Given the description of an element on the screen output the (x, y) to click on. 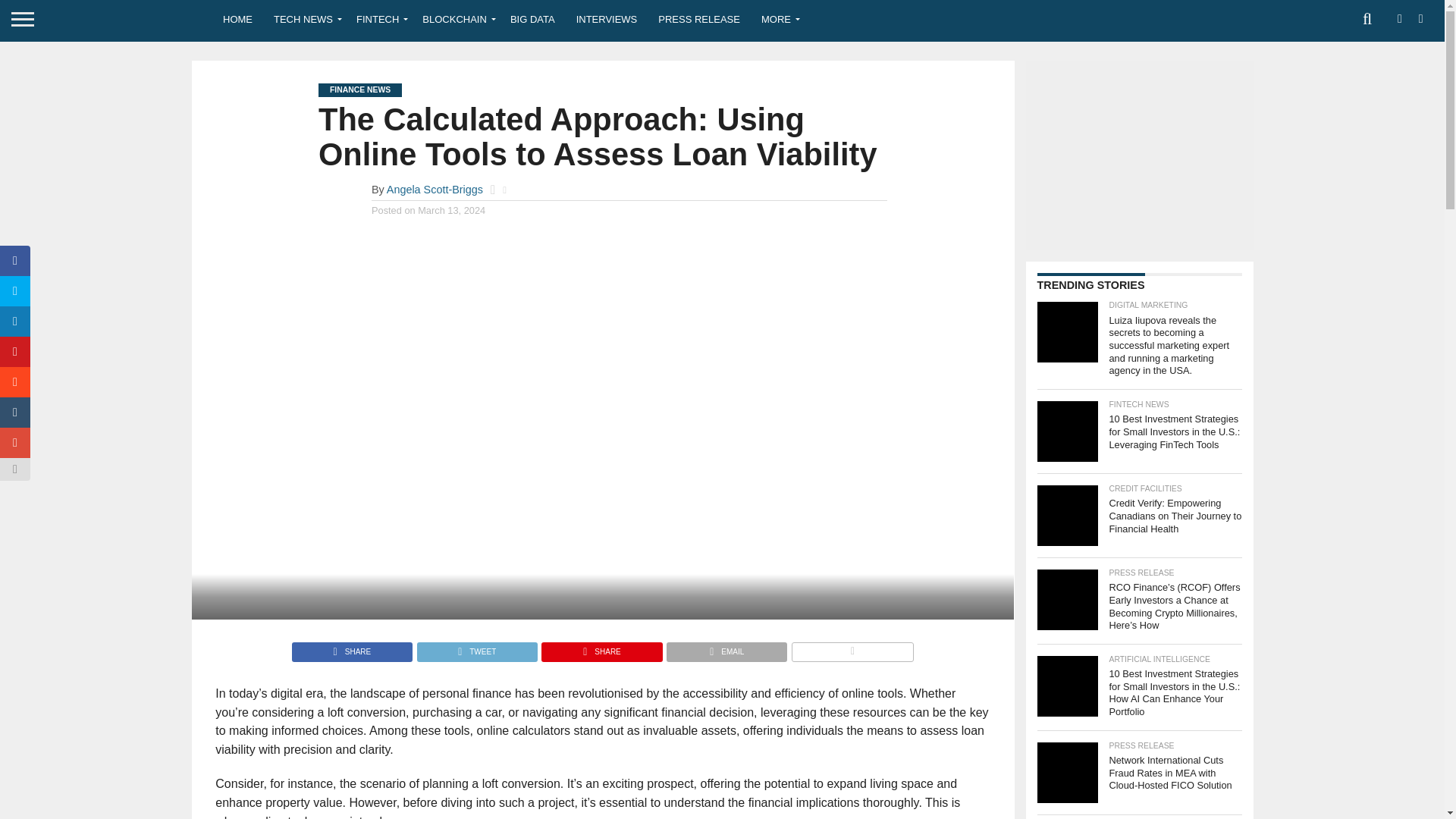
Share on Facebook (352, 647)
Posts by Angela Scott-Briggs (435, 189)
Pin This Post (601, 647)
Tweet This Post (476, 647)
